Given the description of an element on the screen output the (x, y) to click on. 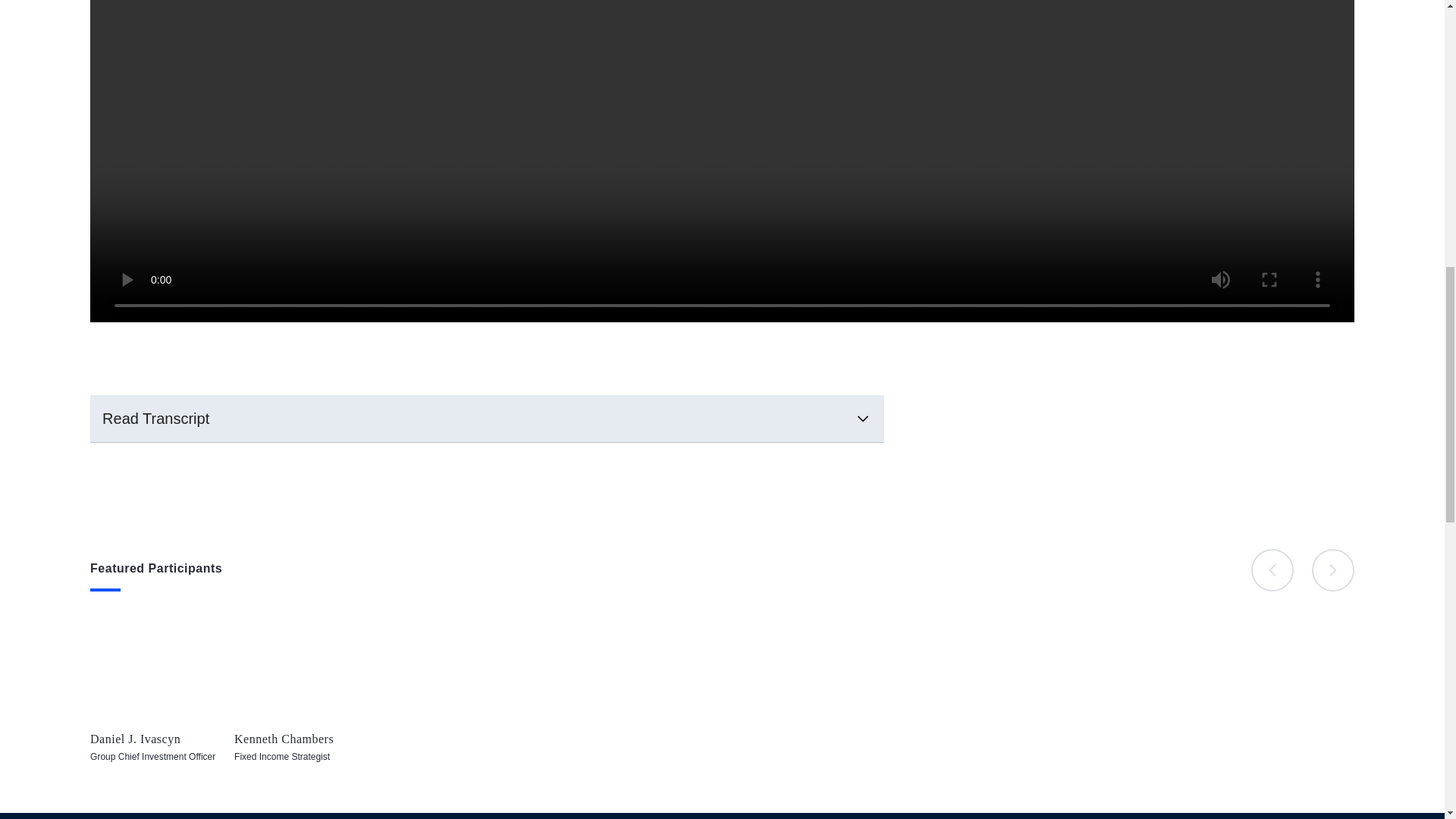
next (162, 701)
prev (1332, 569)
Read Transcript (306, 701)
